Given the description of an element on the screen output the (x, y) to click on. 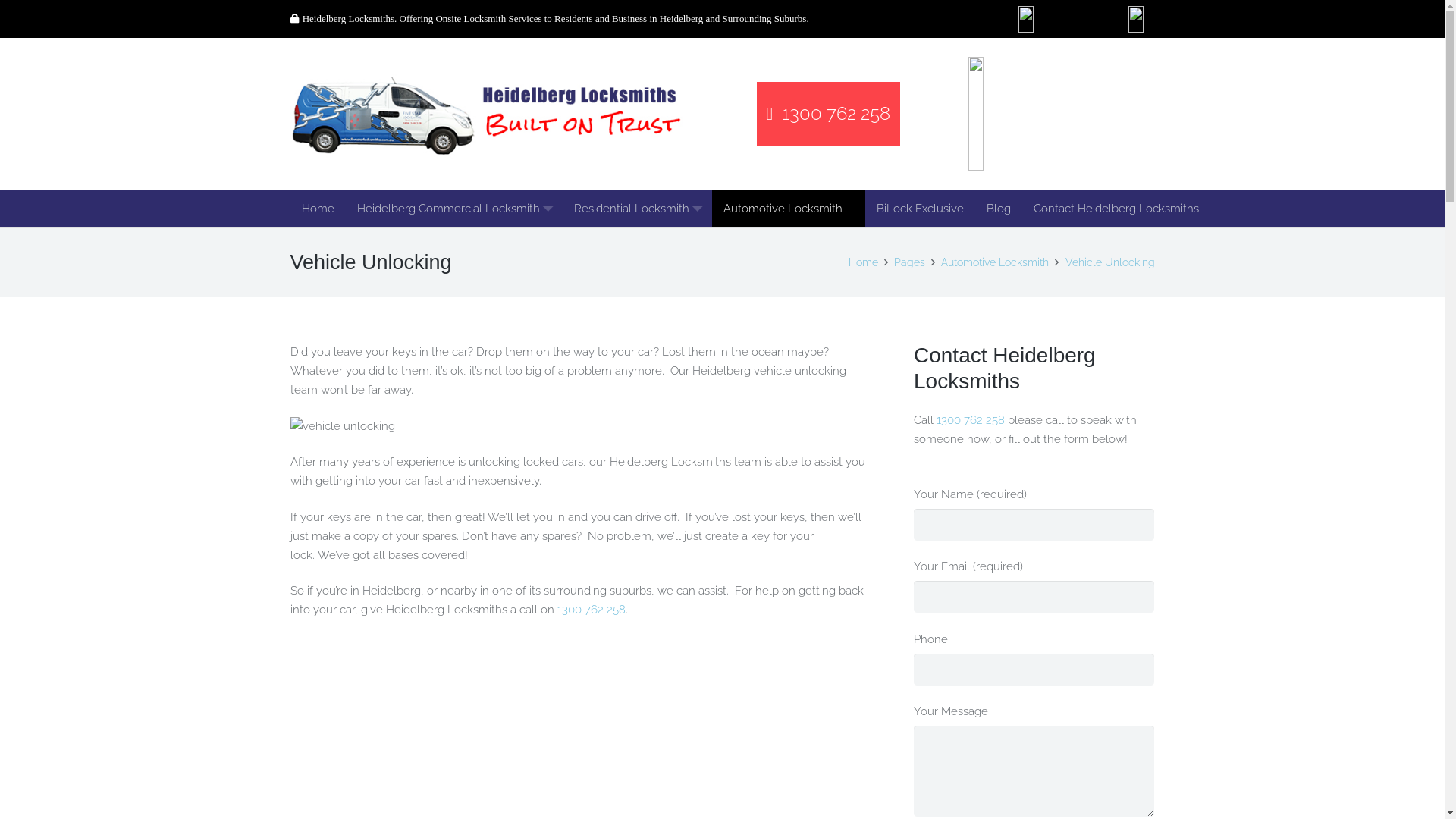
Home Element type: text (317, 208)
Heidelberg Commercial Locksmith Element type: text (453, 208)
1300 762 258 Element type: text (828, 113)
Automotive Locksmith Element type: text (787, 208)
Vehicle Unlocking Element type: text (1109, 262)
1300 762 258 Element type: text (970, 419)
Blog Element type: text (998, 208)
Home Element type: text (863, 262)
Pages Element type: text (909, 262)
Residential Locksmith Element type: text (637, 208)
Contact Heidelberg Locksmiths Element type: text (1116, 208)
BiLock Exclusive Element type: text (919, 208)
Automotive Locksmith Element type: text (994, 262)
1300 762 258 Element type: text (590, 609)
